Given the description of an element on the screen output the (x, y) to click on. 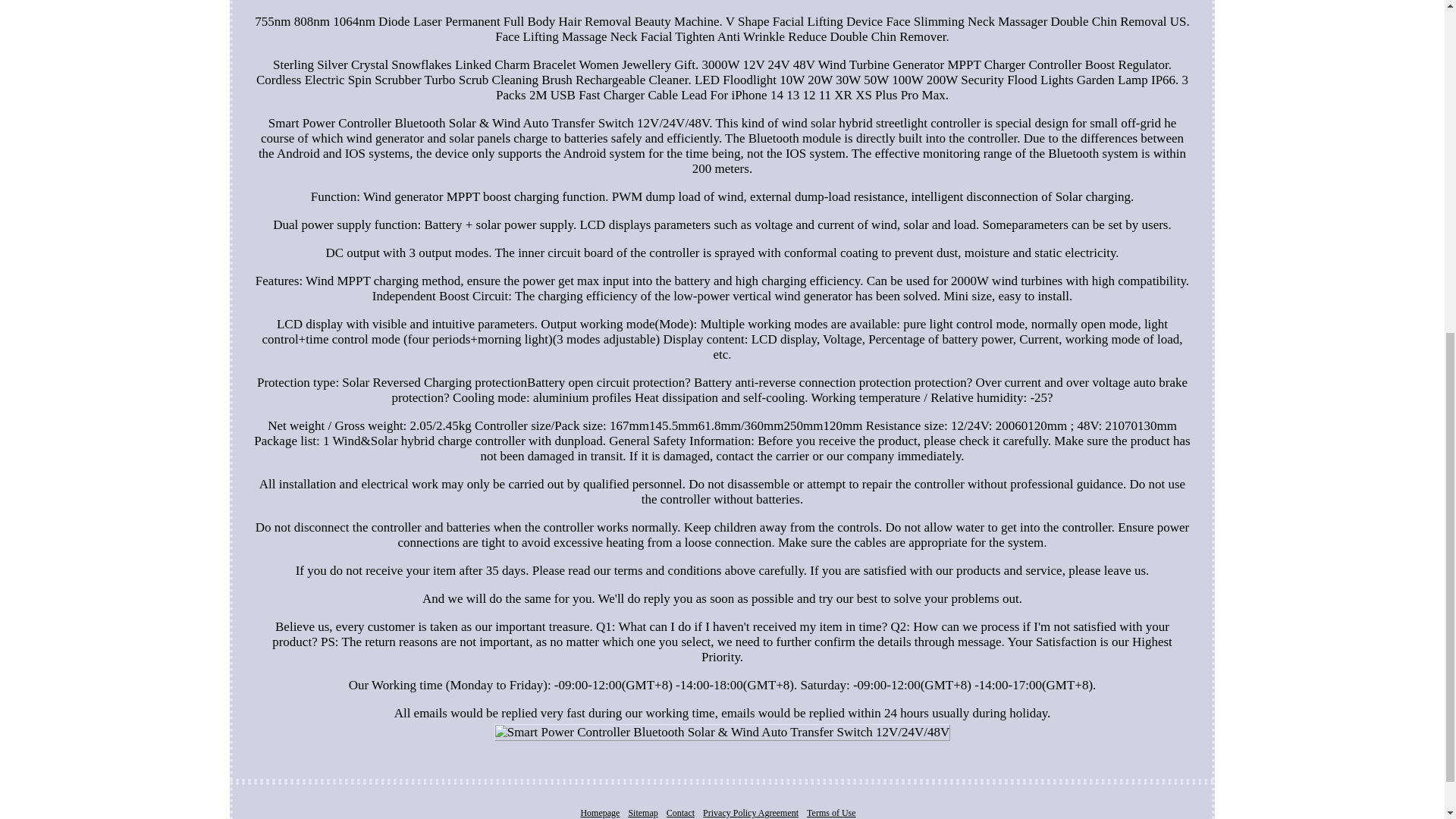
Contact (680, 812)
Terms of Use (831, 812)
Sitemap (642, 812)
Homepage (599, 812)
Privacy Policy Agreement (750, 812)
